Given the description of an element on the screen output the (x, y) to click on. 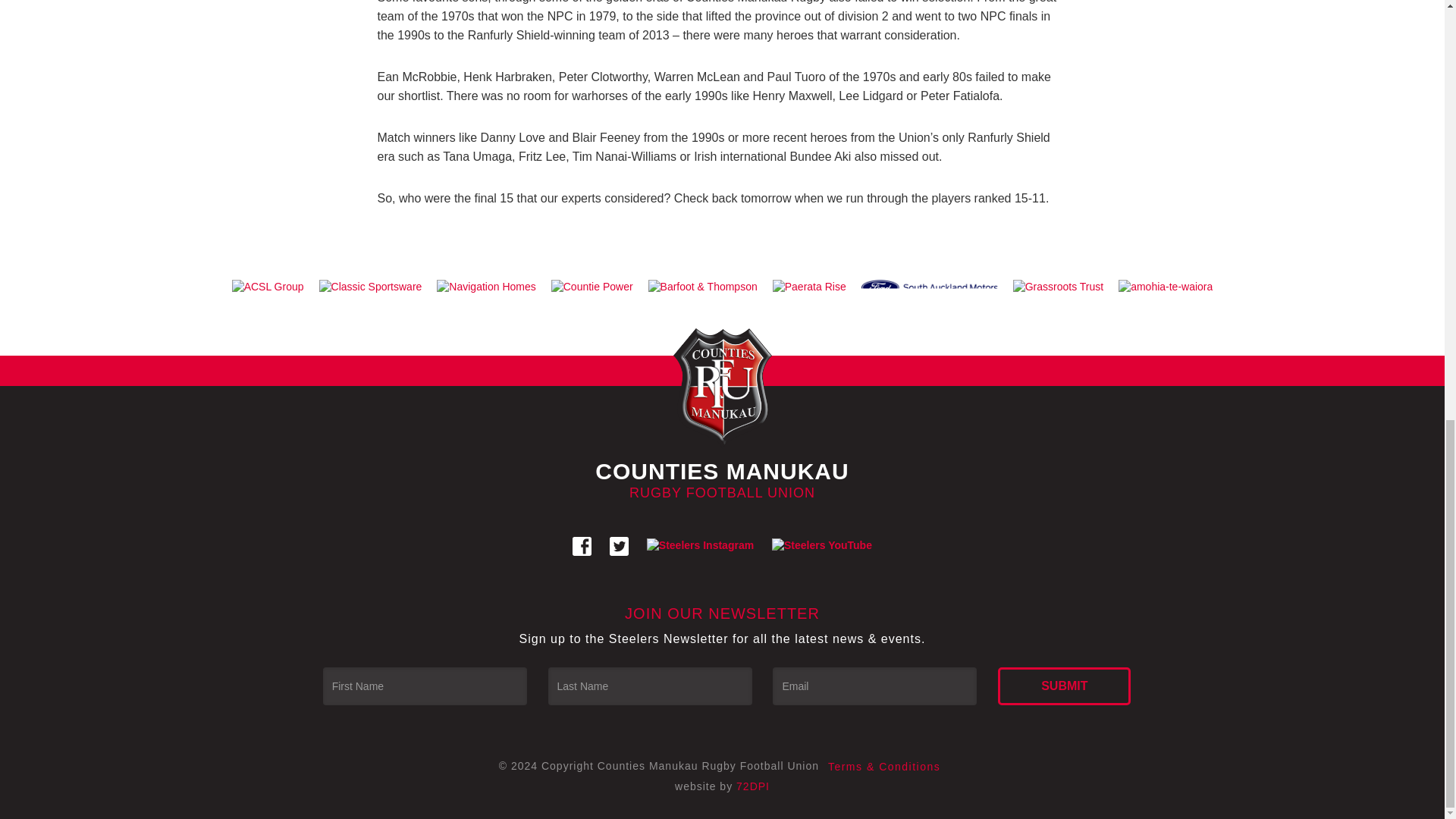
Grassroots Trust (1058, 287)
amohia-te-waiora (1165, 287)
Paerata Rise (809, 287)
ACSL Group (267, 287)
Navigational Homes (486, 287)
Counties Power (591, 287)
Classic Sportsware (370, 287)
South Auckland Motors (929, 286)
